Given the description of an element on the screen output the (x, y) to click on. 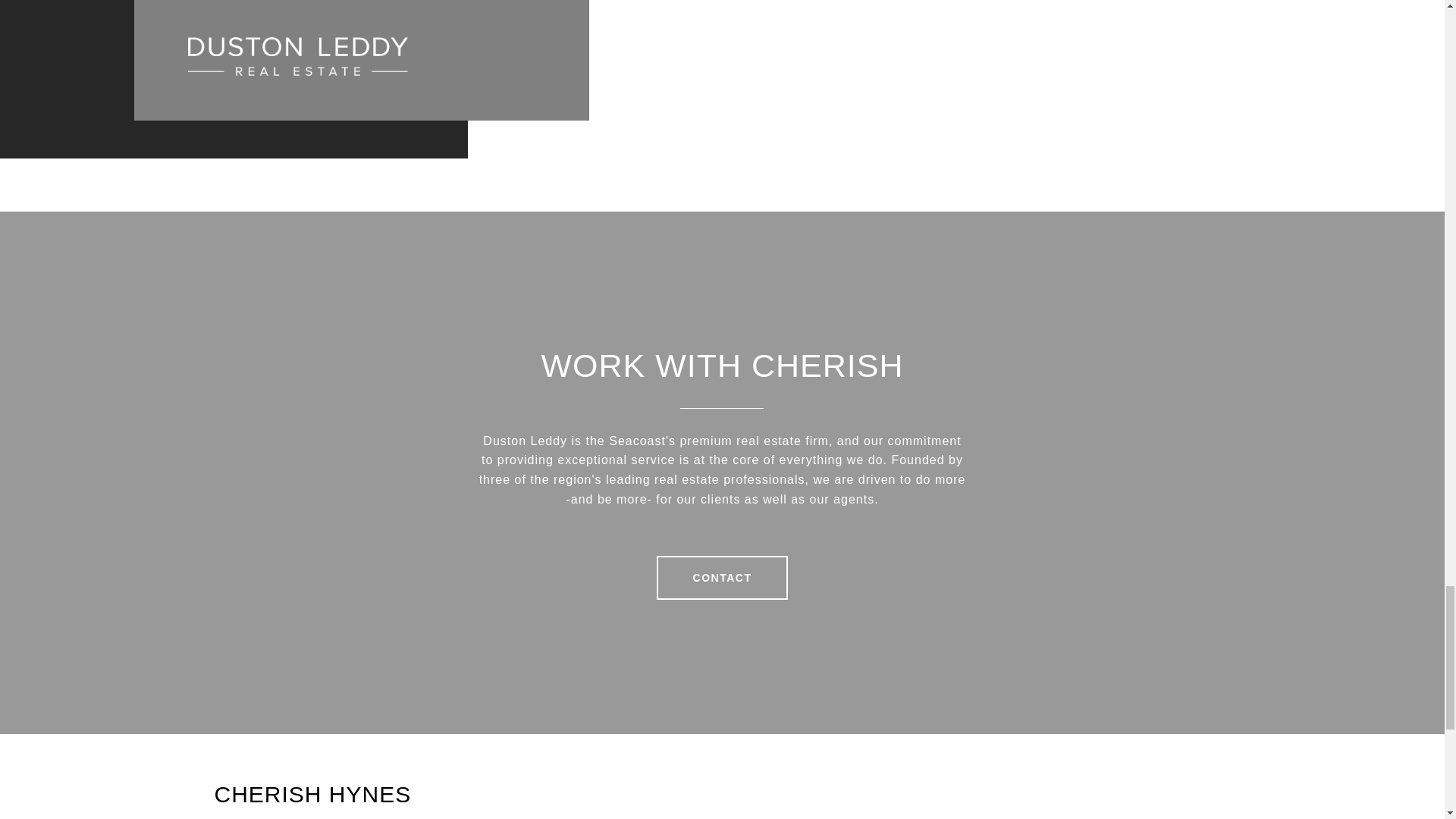
CONTACT (722, 577)
